Given the description of an element on the screen output the (x, y) to click on. 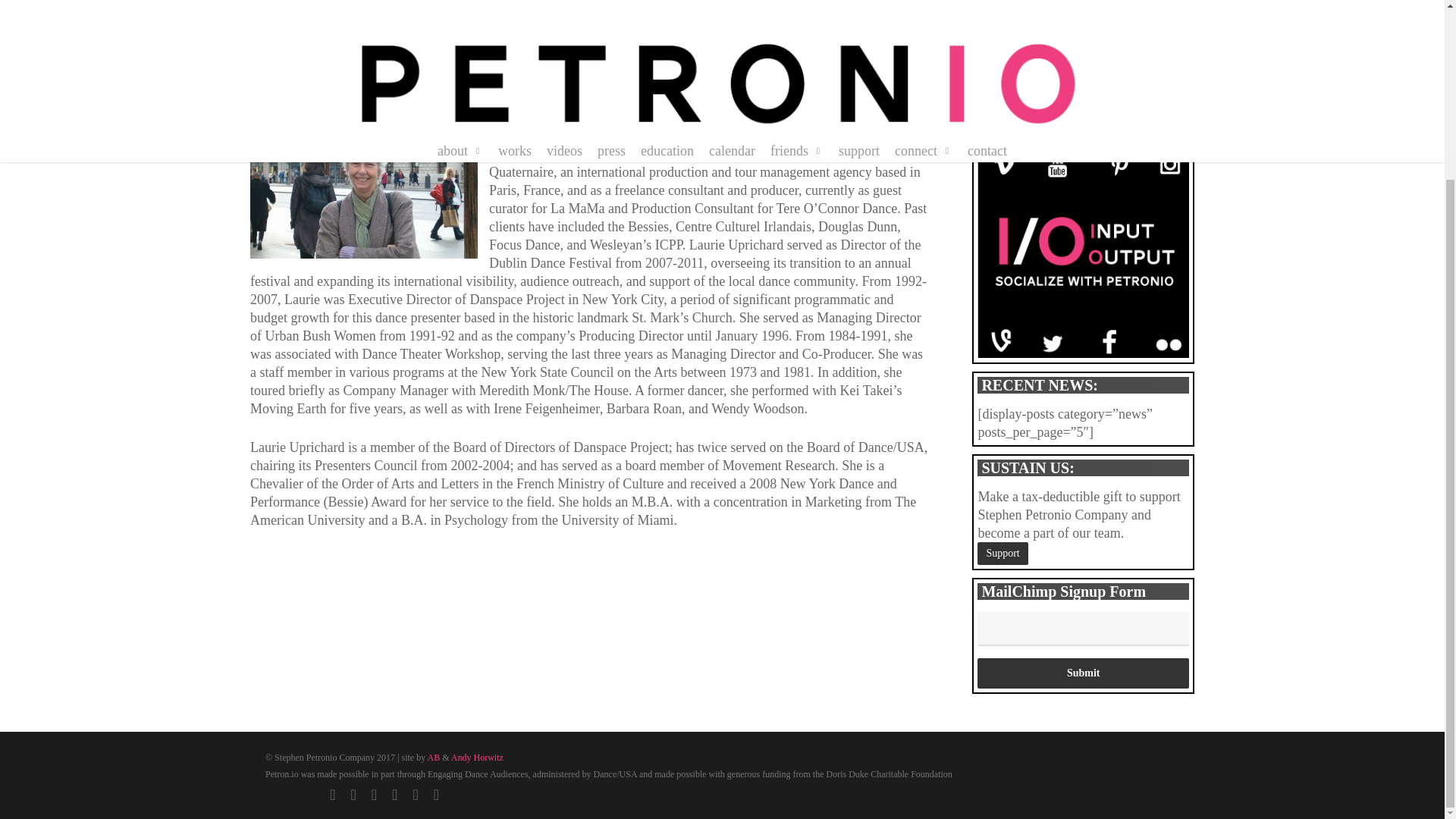
Support (1001, 553)
AB (434, 757)
Support (1001, 553)
Laurie on Facebook (288, 76)
Submit (1082, 673)
Laurie on LinkedIn (401, 76)
Andy Horwitz (477, 757)
Join (994, 97)
Join (994, 97)
